Given the description of an element on the screen output the (x, y) to click on. 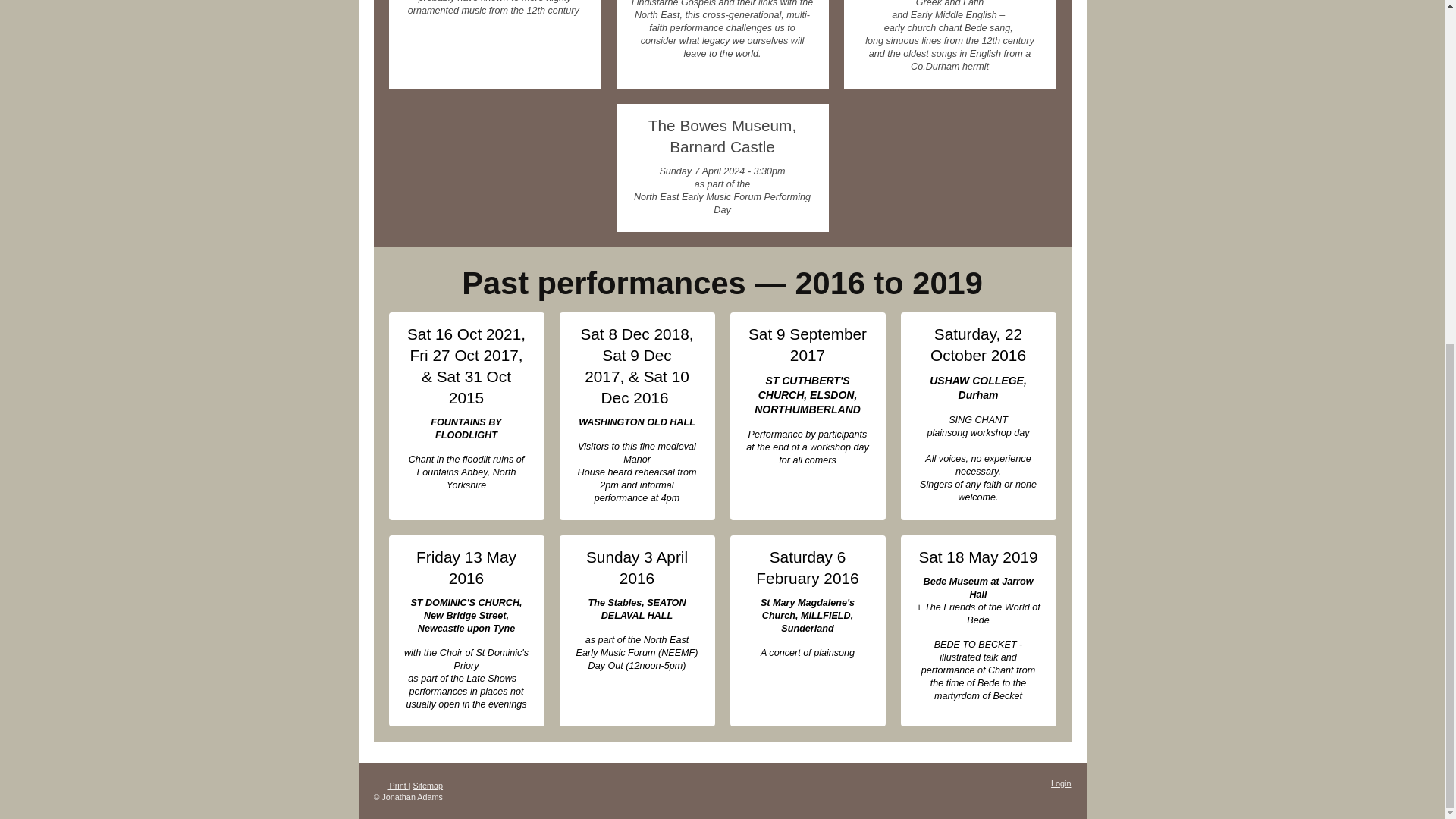
Login (1060, 782)
Sitemap (428, 785)
Print (389, 785)
